Given the description of an element on the screen output the (x, y) to click on. 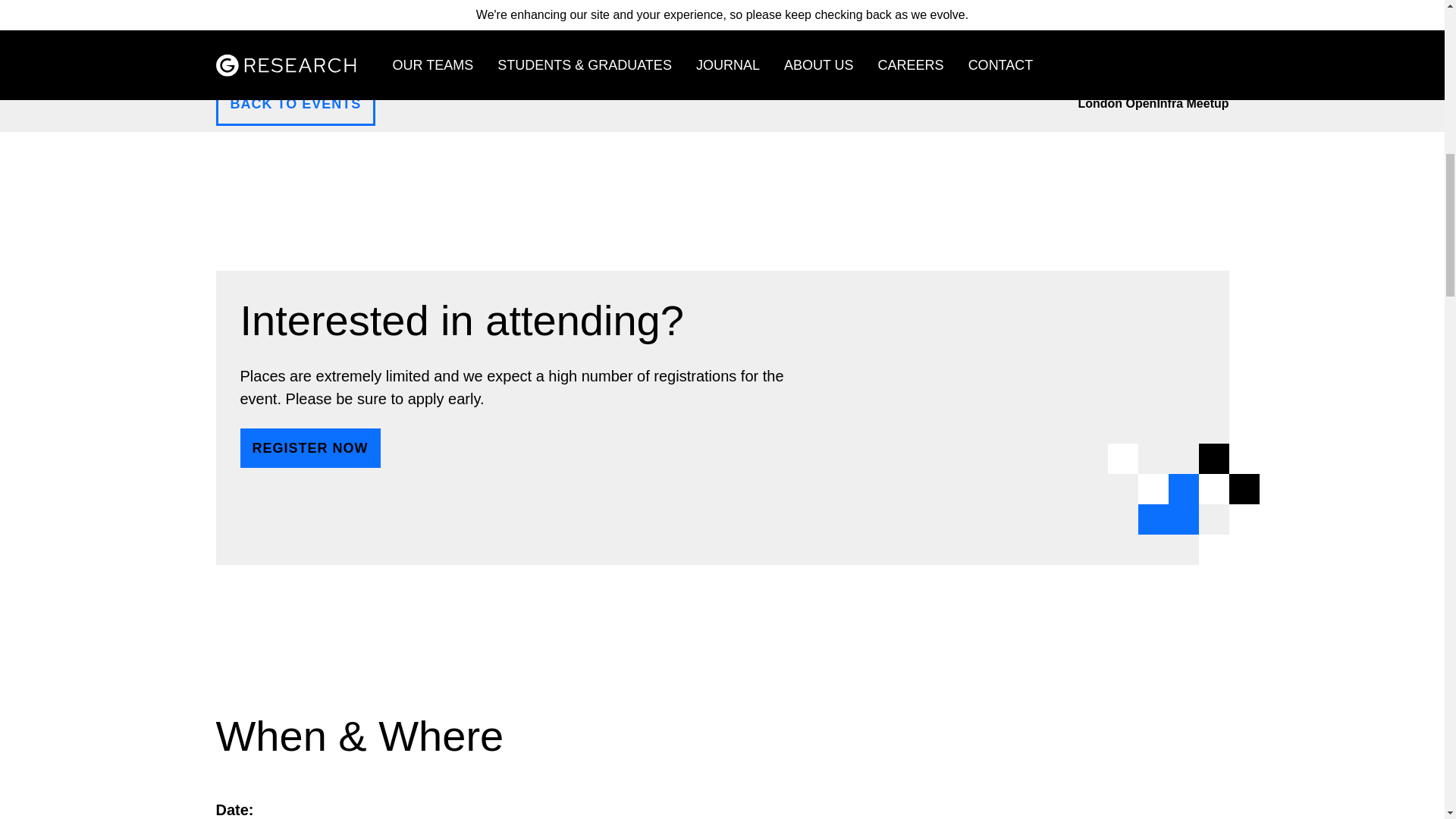
REGISTER NOW (310, 447)
